Given the description of an element on the screen output the (x, y) to click on. 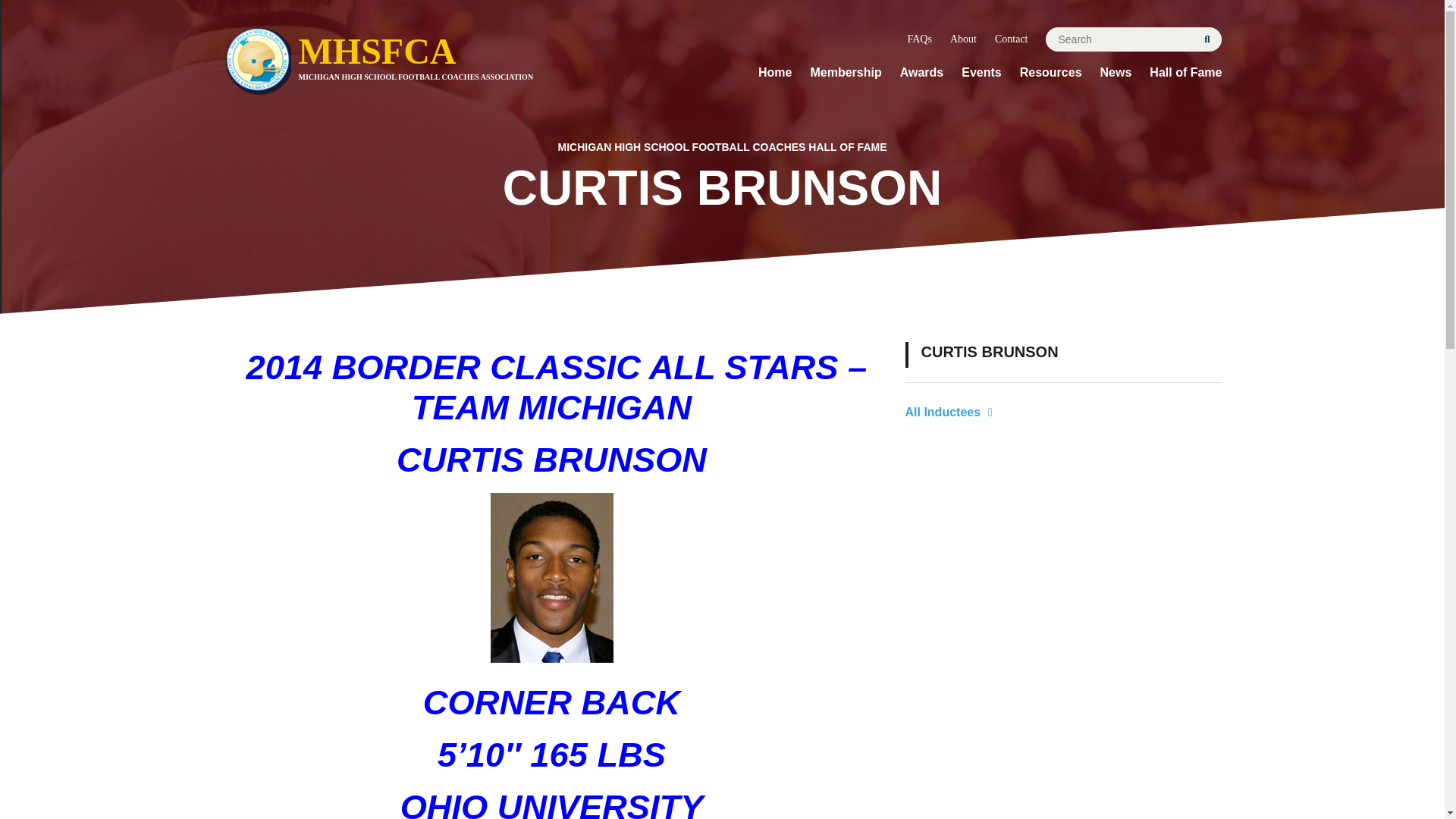
Home (775, 72)
Awards (921, 72)
Events (980, 72)
News (1116, 72)
Hall of Fame (1185, 72)
Resources (1050, 72)
Contact (1010, 38)
About (424, 64)
FAQs (963, 38)
Membership (919, 38)
